Given the description of an element on the screen output the (x, y) to click on. 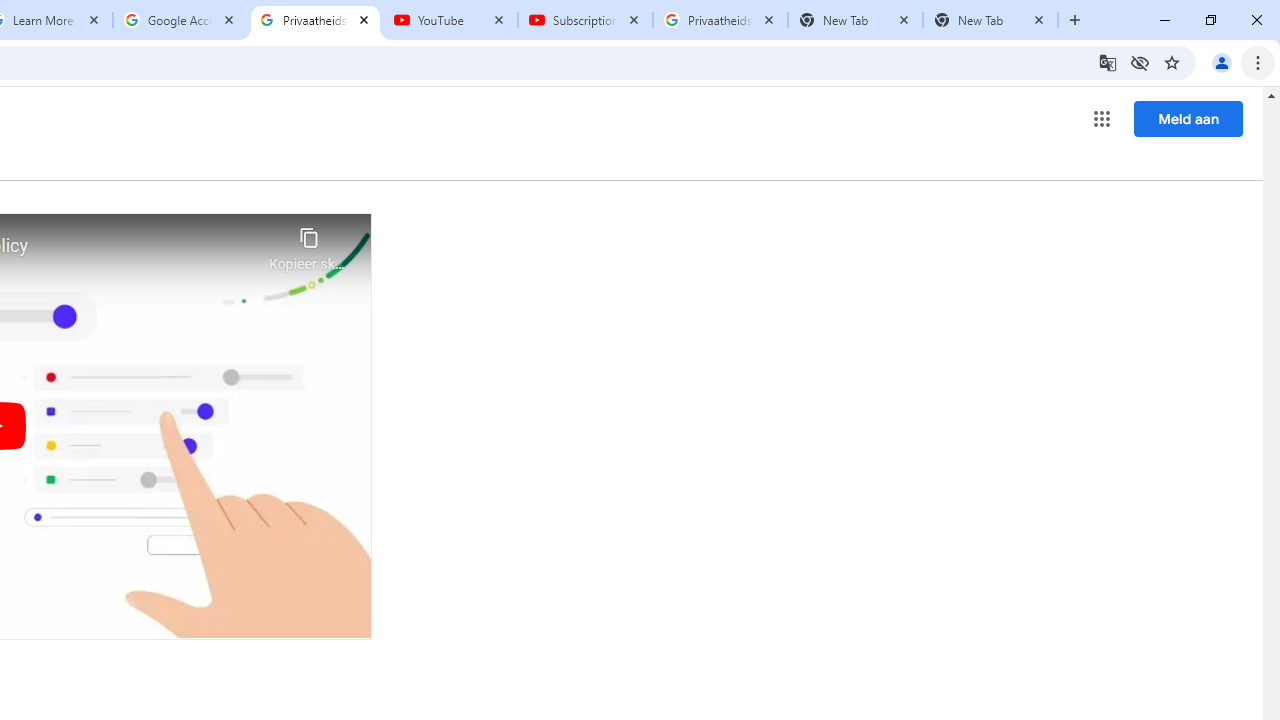
Meld aan (1188, 118)
Kopieer skakel (308, 244)
New Tab (990, 20)
Subscriptions - YouTube (585, 20)
YouTube (450, 20)
